Given the description of an element on the screen output the (x, y) to click on. 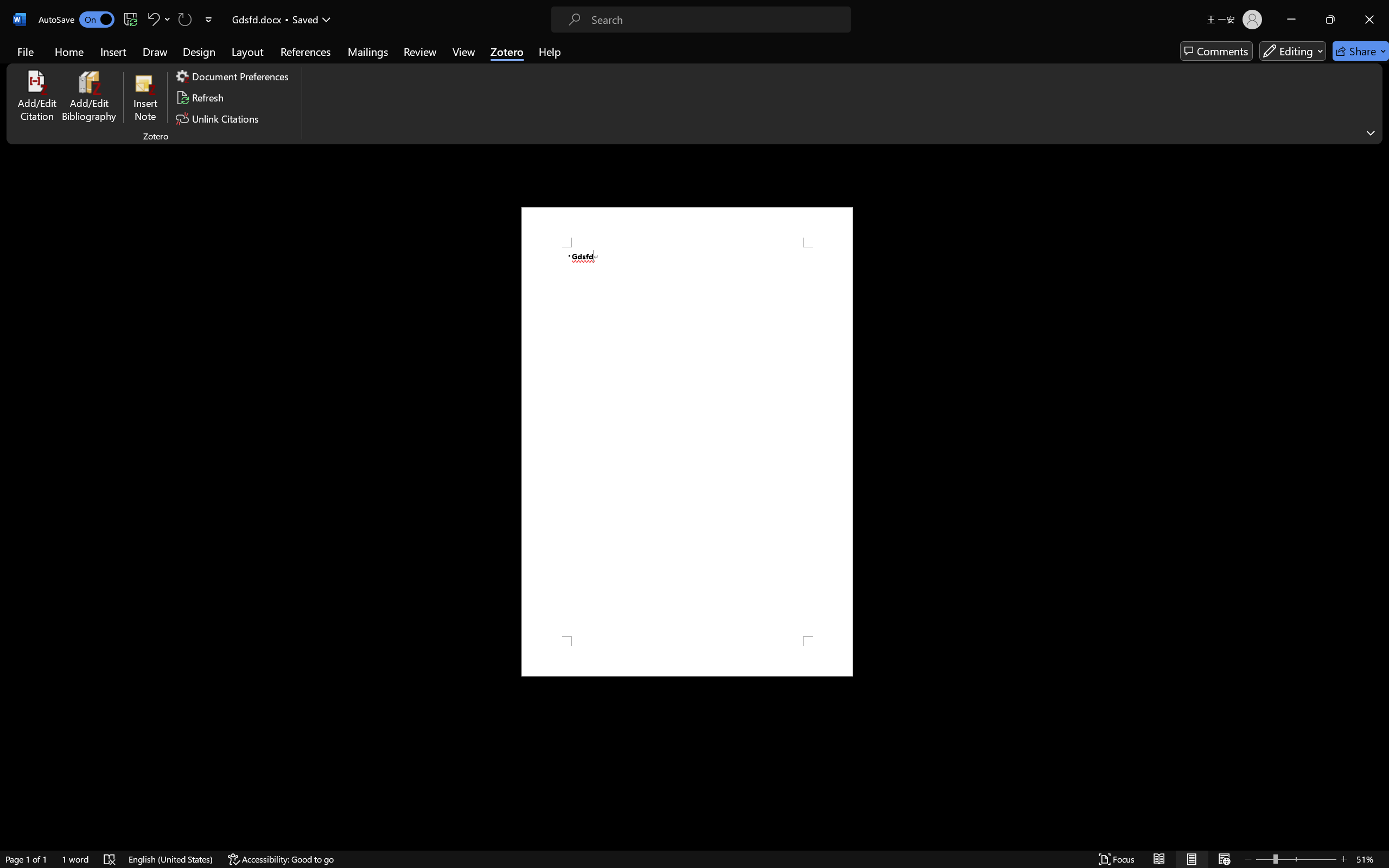
Quick Styles (625, 62)
Reset (131, 62)
Strikethrough (225, 71)
Text Highlight Color Yellow (283, 71)
Font Color Red (305, 71)
